Given the description of an element on the screen output the (x, y) to click on. 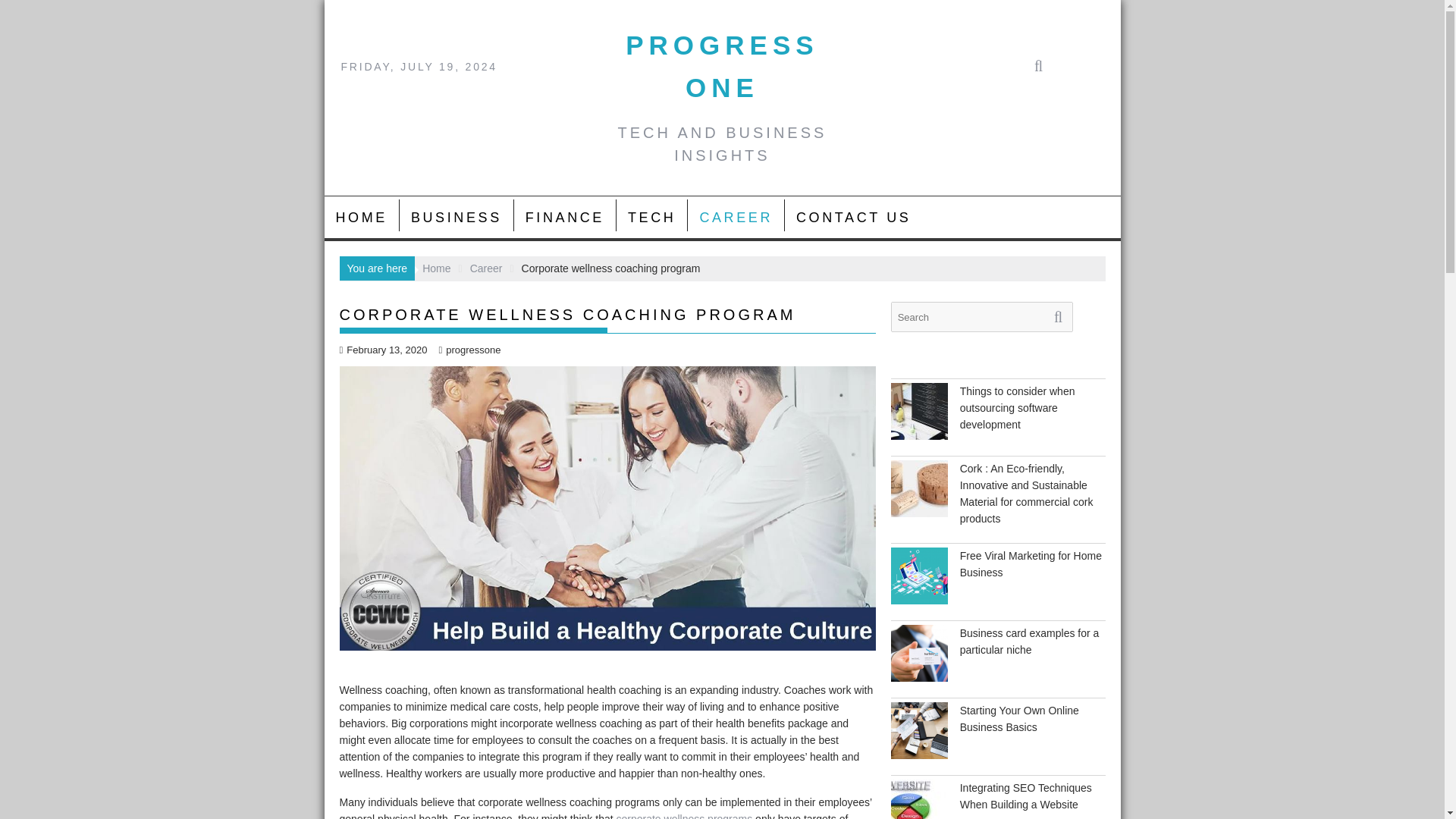
FINANCE (564, 217)
February 13, 2020 (383, 349)
corporate wellness programs (683, 816)
TECH (651, 217)
HOME (361, 217)
BUSINESS (455, 217)
PROGRESS ONE (722, 66)
Career (486, 268)
CONTACT US (852, 217)
Home (435, 268)
progressone (469, 349)
CAREER (735, 217)
